Given the description of an element on the screen output the (x, y) to click on. 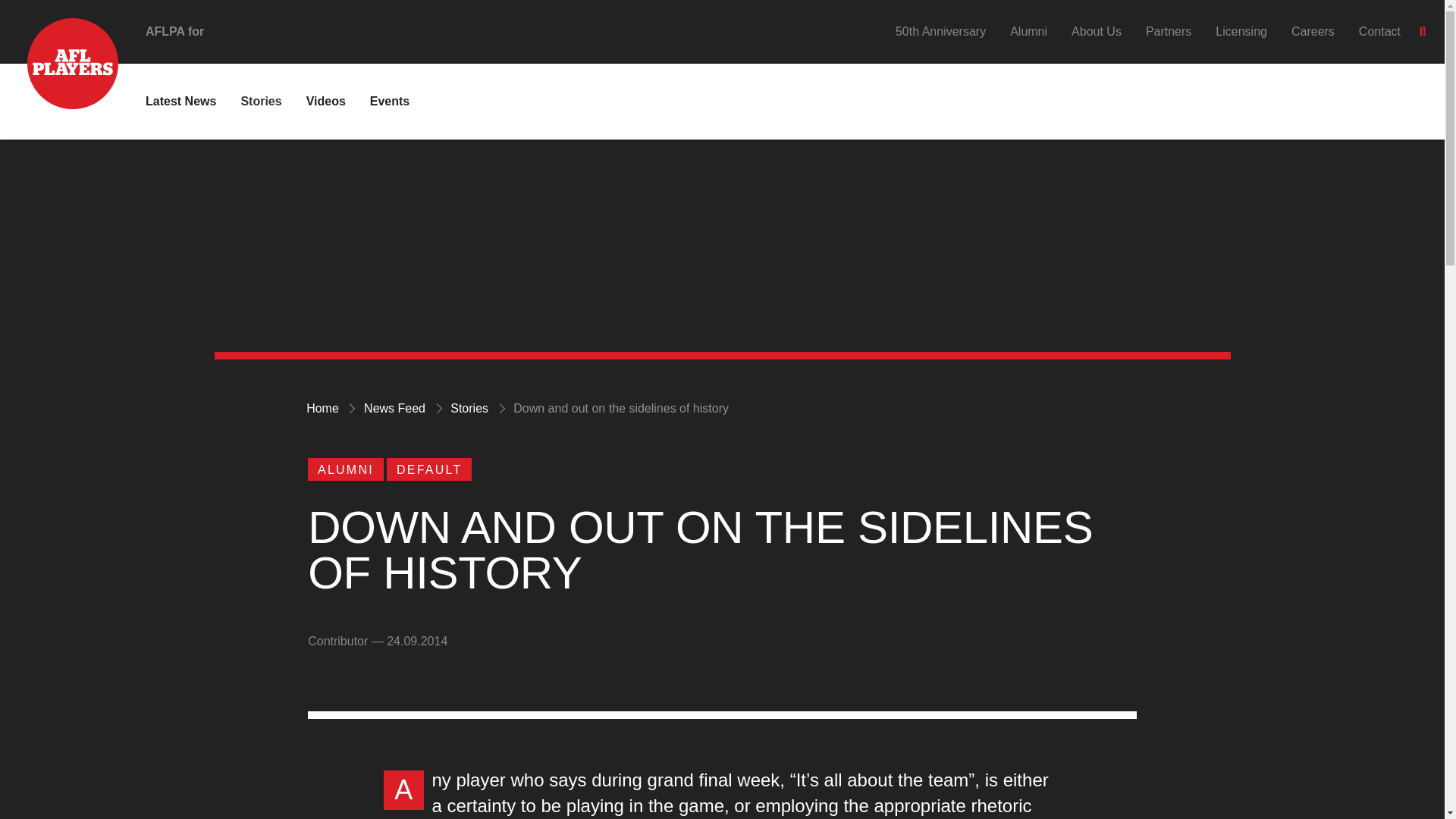
ALUMNI (345, 468)
Contact (1379, 31)
Home (322, 408)
Stories (260, 101)
About Us (1096, 31)
Alumni (1028, 31)
50th Anniversary (940, 31)
Latest News (180, 101)
AFL Players' Association Limited (58, 40)
Partners (1168, 31)
